Given the description of an element on the screen output the (x, y) to click on. 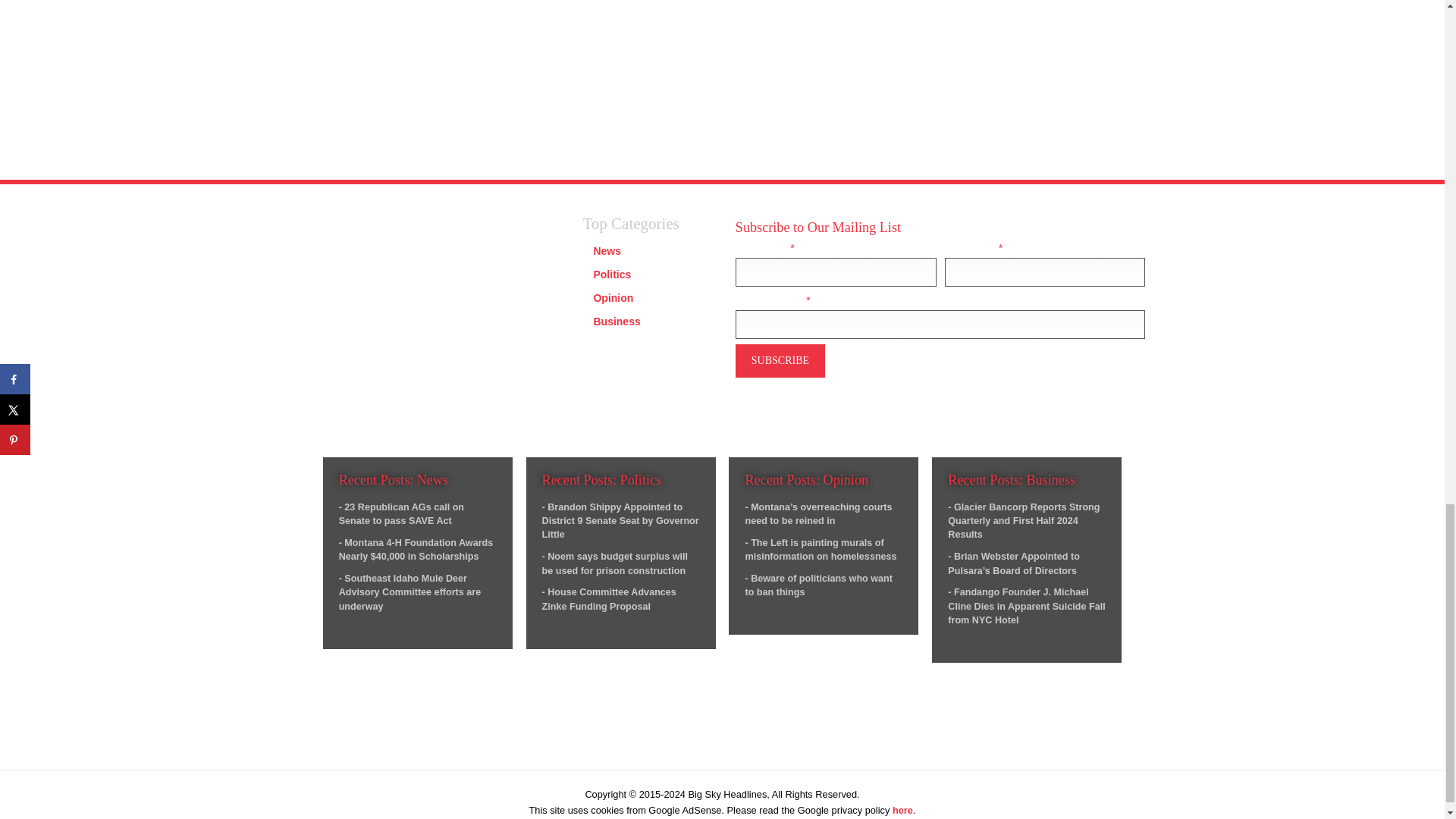
About Big Sky Headlines (362, 408)
Subscribe (780, 360)
Contact Big Sky Headlines (366, 426)
Opinion (612, 297)
Subscribe (780, 360)
News Category (606, 250)
News (606, 250)
- 23 Republican AGs call on Senate to pass SAVE Act (401, 514)
Politics (611, 274)
Politics Category (611, 274)
Opinion Category (612, 297)
Business (616, 321)
Contact Big Sky Headlines (366, 426)
About Big Sky Headlines (362, 408)
